Given the description of an element on the screen output the (x, y) to click on. 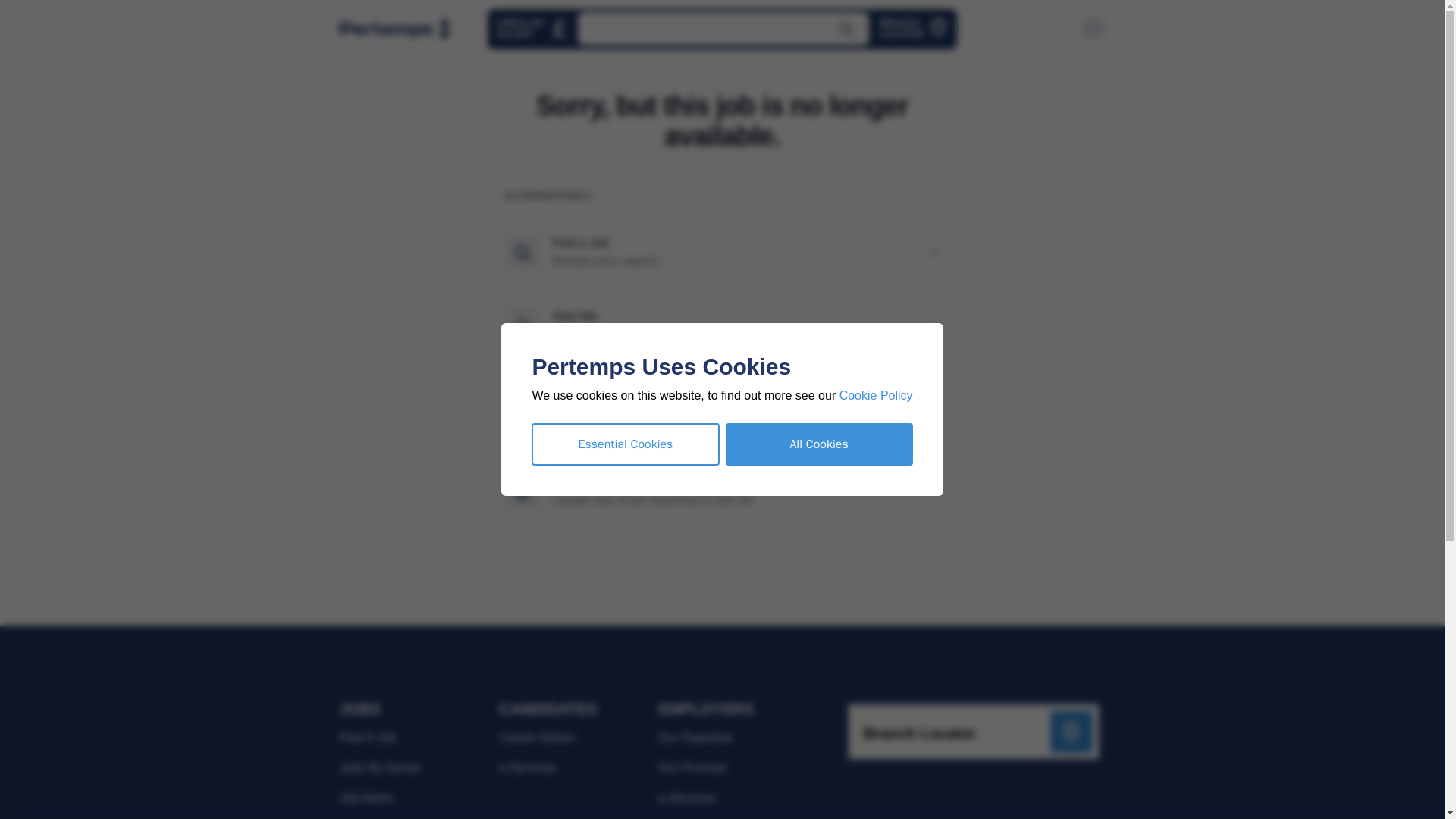
All Cookies (824, 444)
Open Navigation (537, 28)
Essential Cookies (1098, 28)
Go to Job Search (631, 444)
Go to Salary Health Checker (729, 28)
Cookie Policy (919, 28)
Go to Branch Locator (537, 28)
Home (881, 395)
